Given the description of an element on the screen output the (x, y) to click on. 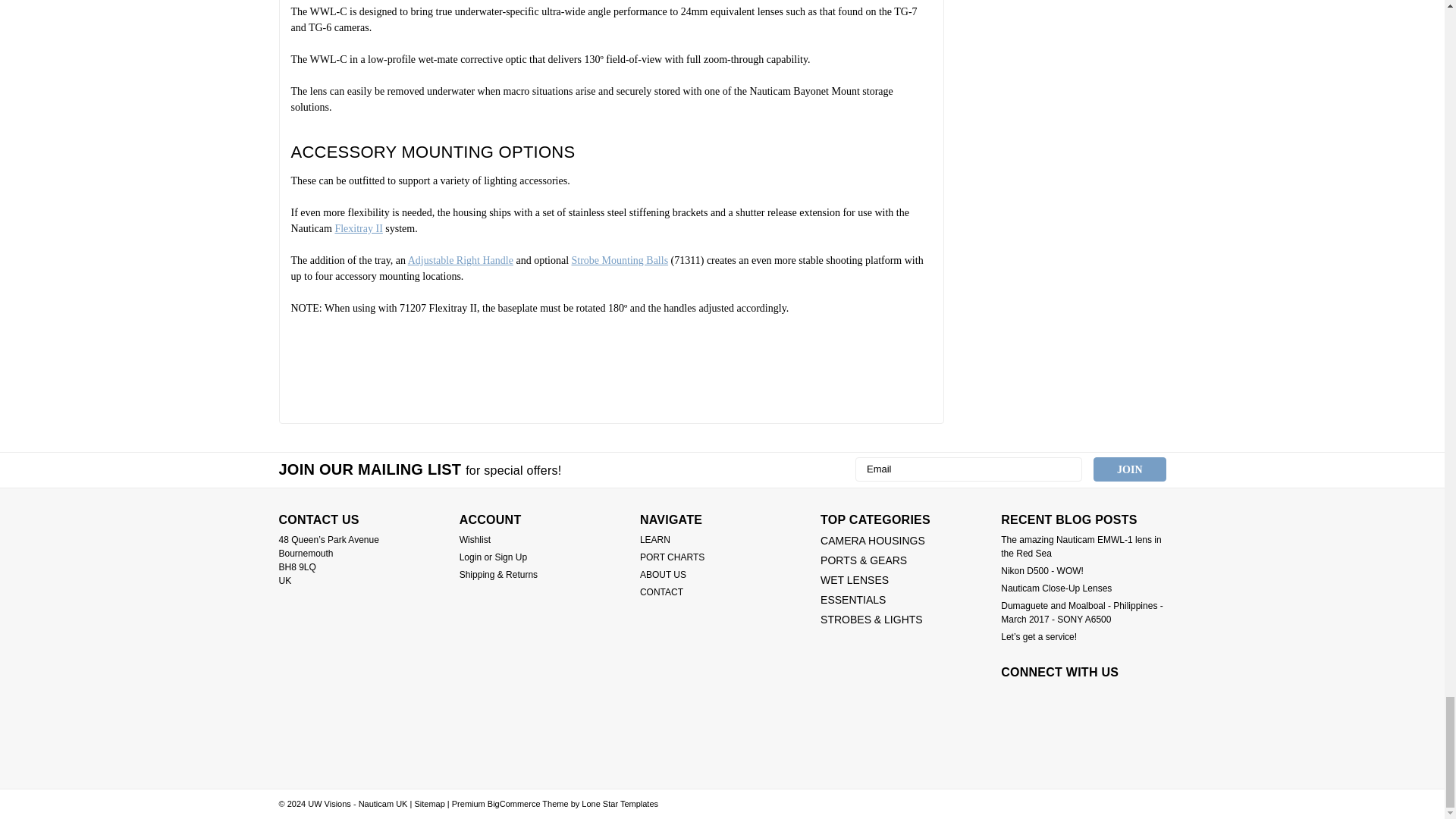
Join (1129, 469)
